Given the description of an element on the screen output the (x, y) to click on. 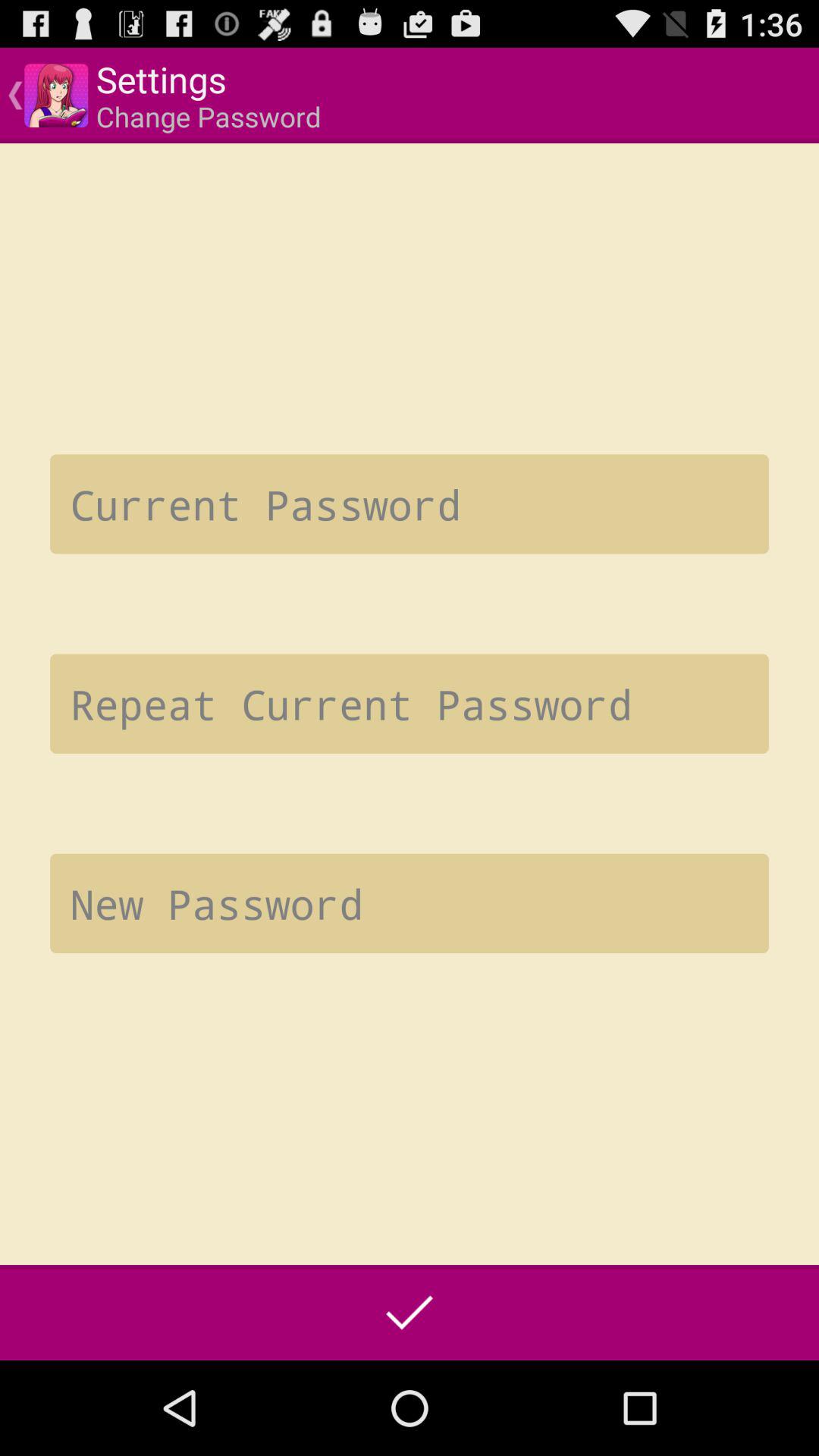
enter current password (409, 503)
